Given the description of an element on the screen output the (x, y) to click on. 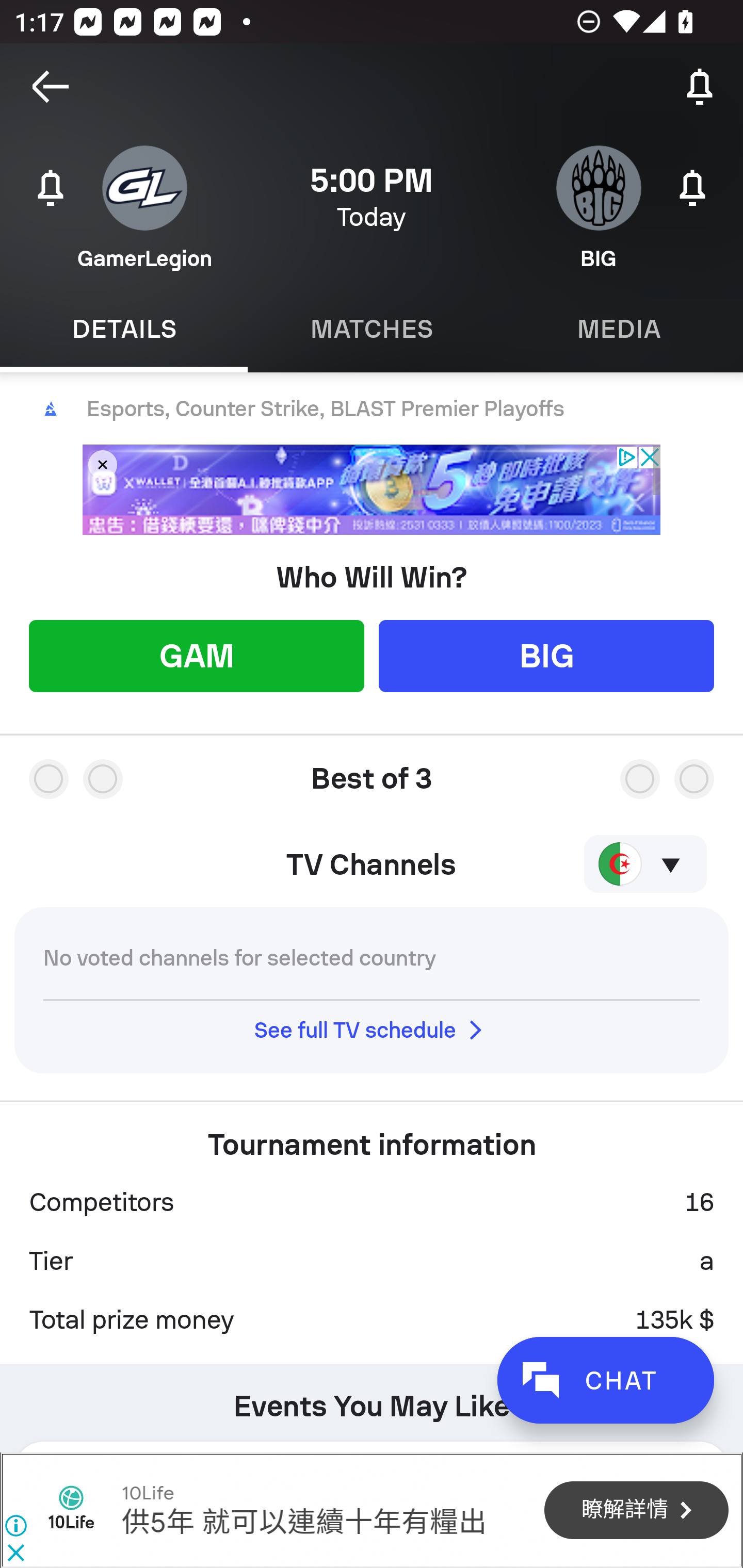
Navigate up (50, 86)
Matches MATCHES (371, 329)
Media MEDIA (619, 329)
Esports, Counter Strike, BLAST Premier Playoffs (371, 409)
GAM (196, 655)
BIG (546, 655)
Best of 3 (371, 771)
See full TV schedule (371, 1029)
CHAT (605, 1380)
10Life (71, 1509)
10Life (147, 1492)
瞭解詳情 (636, 1511)
供5年 就可以連續十年有糧出 (303, 1522)
